Given the description of an element on the screen output the (x, y) to click on. 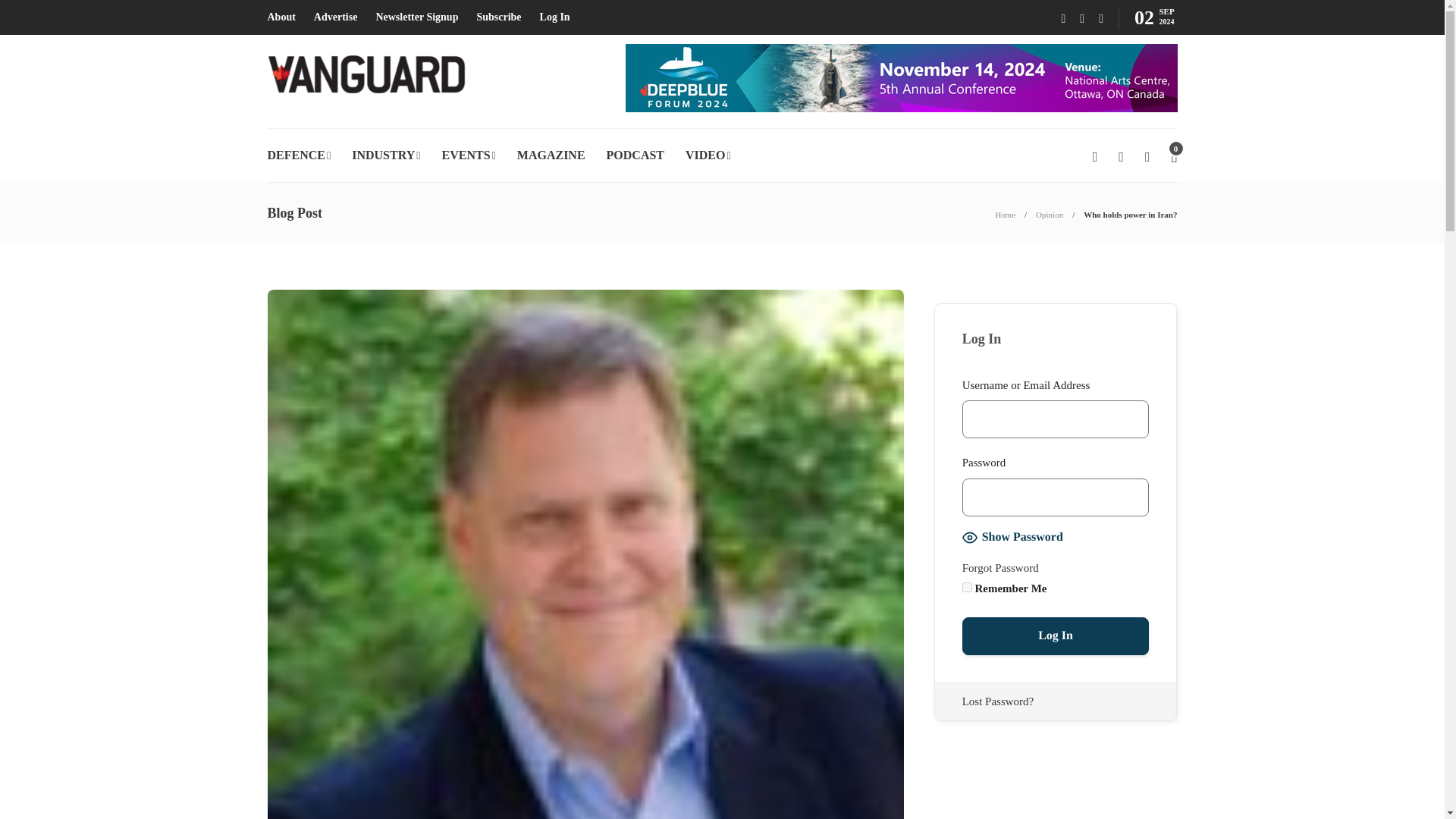
DEFENCE (298, 154)
Log In (555, 17)
Log In (1056, 636)
Who holds power in Iran? (1129, 214)
forever (967, 587)
Subscribe (498, 17)
Newsletter Signup (416, 17)
About (280, 17)
Home (1004, 214)
Advertise (336, 17)
